Given the description of an element on the screen output the (x, y) to click on. 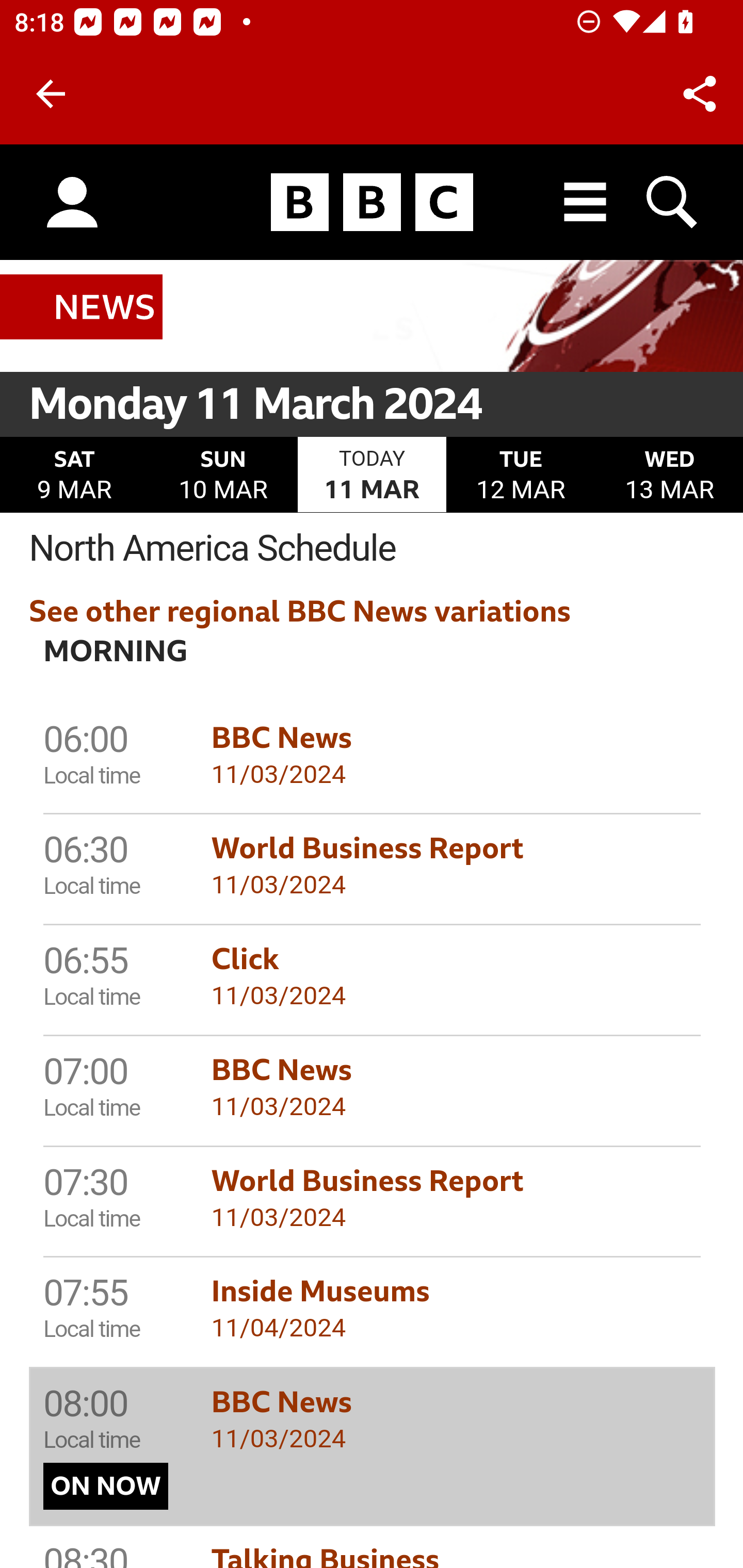
Back (50, 93)
Share (699, 93)
All BBC destinations menu (585, 202)
Search BBC (672, 202)
Sign in (71, 203)
Homepage (371, 203)
BBC News (82, 307)
Saturday 9 March  SAT 9 MAR (74, 475)
Sunday 10 March  SUN 10 MAR (222, 475)
Tuesday 12 March  TUE 12 MAR (520, 475)
Wednesday 13 March  WED 13 MAR (668, 475)
See other regional BBC News variations (300, 612)
